Given the description of an element on the screen output the (x, y) to click on. 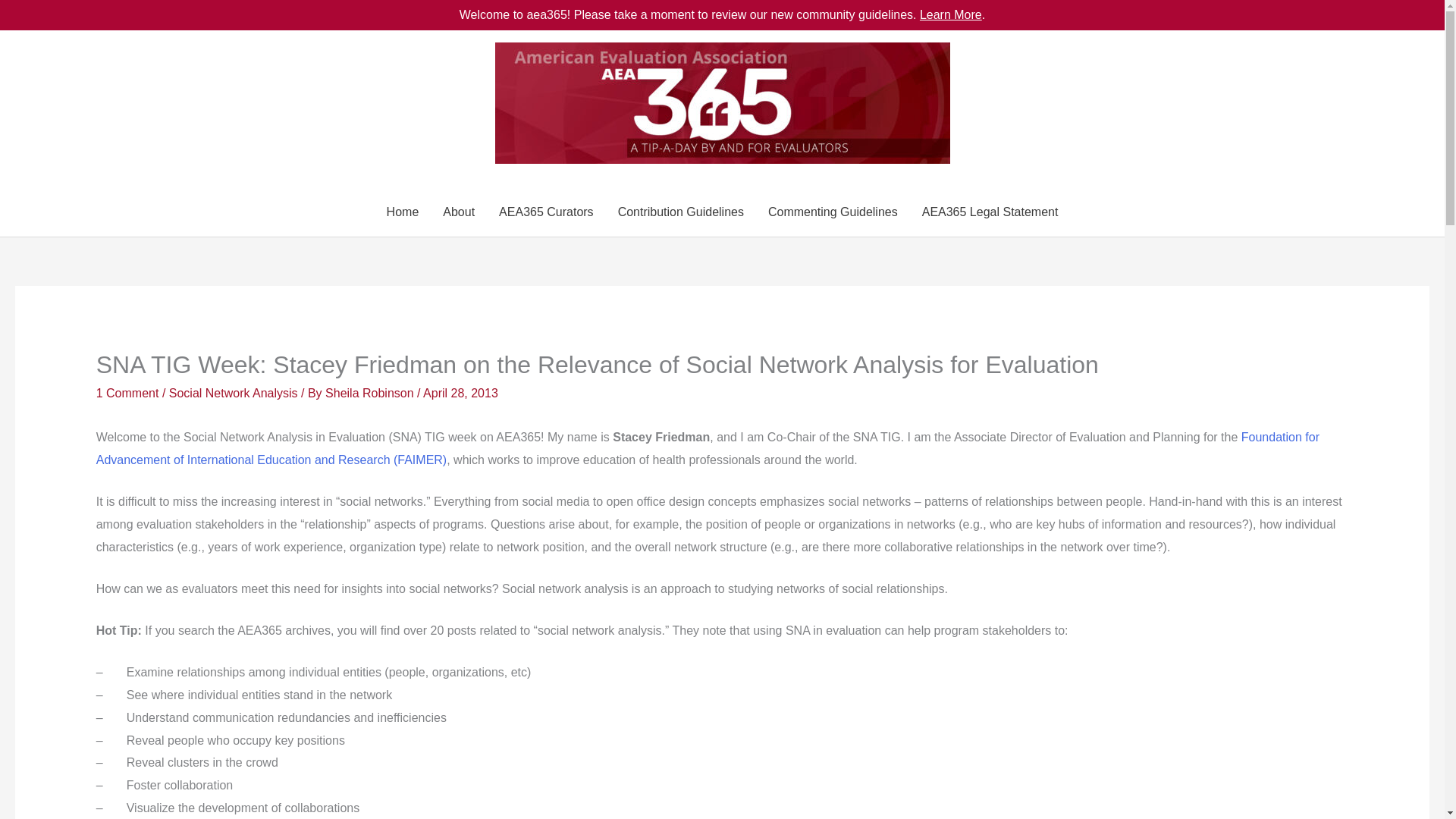
Learn More (950, 14)
Sheila Robinson (370, 392)
1 Comment (127, 392)
Contribution Guidelines (680, 212)
Home (402, 212)
AEA365 Curators (545, 212)
AEA365 Legal Statement (990, 212)
About (458, 212)
Social Network Analysis (233, 392)
View all posts by Sheila Robinson (370, 392)
